Given the description of an element on the screen output the (x, y) to click on. 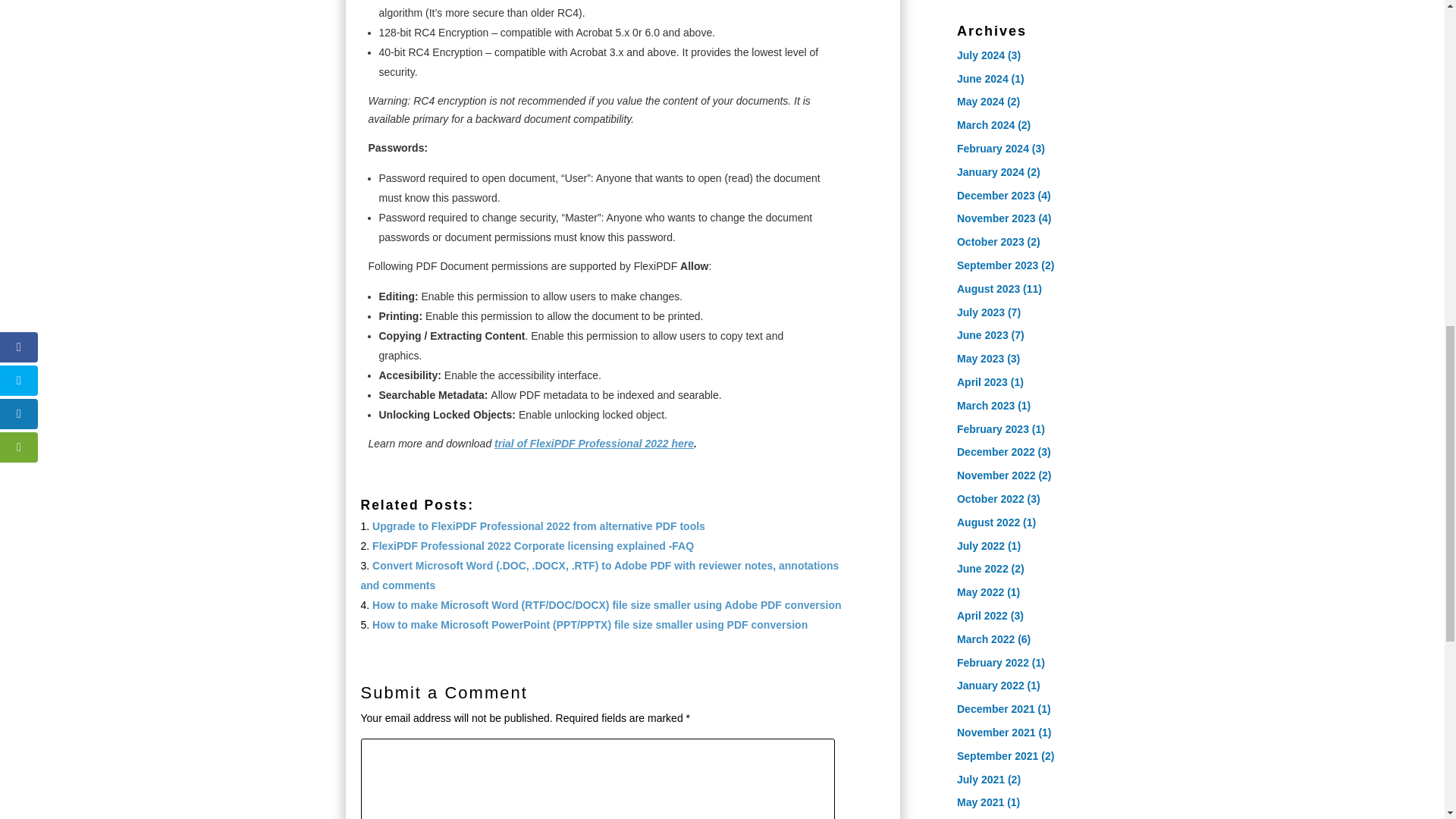
trial of FlexiPDF Professional 2022 here (594, 443)
